Given the description of an element on the screen output the (x, y) to click on. 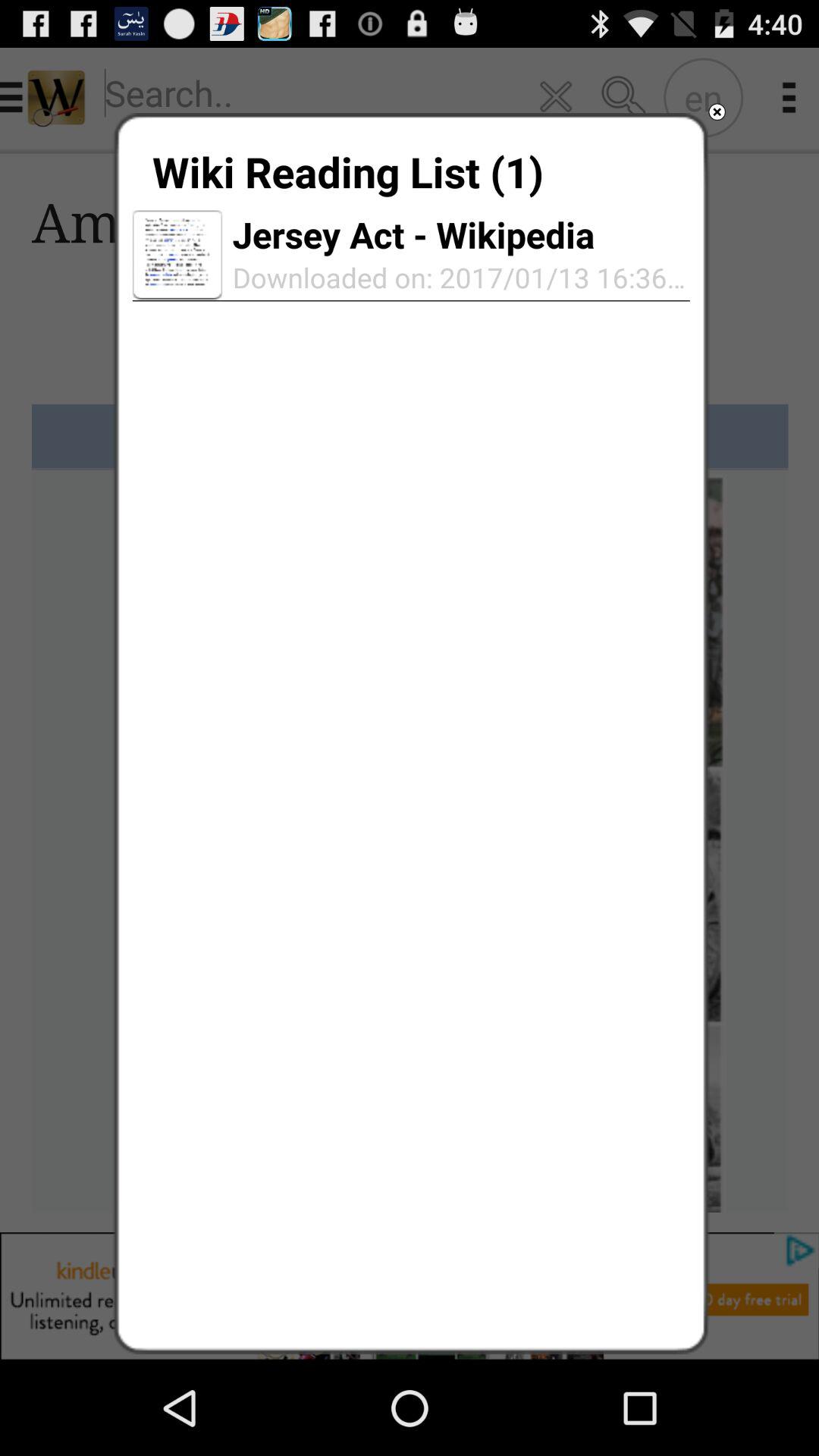
press icon next to downloaded on 2017 icon (177, 255)
